Given the description of an element on the screen output the (x, y) to click on. 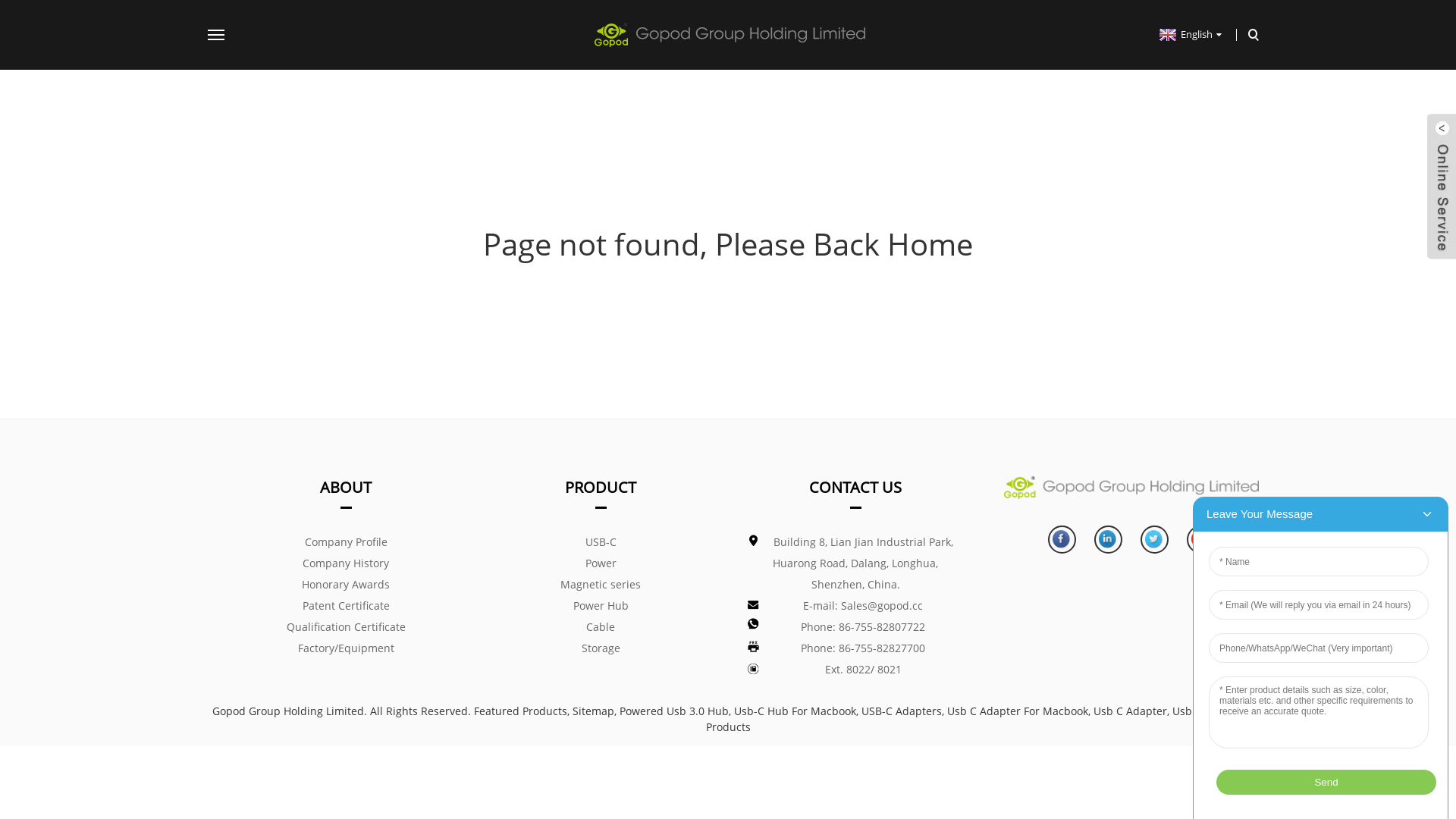
Phone: 86-755-82827700 Element type: text (854, 647)
All Products Element type: text (974, 718)
Powered Usb 3.0 Hub Element type: text (673, 710)
Featured Products Element type: text (519, 710)
English Element type: text (1188, 33)
Usb C Hub Element type: text (1199, 710)
Qualification Certificate Element type: text (345, 626)
USB-C Adapters Element type: text (901, 710)
Patent Certificate Element type: text (345, 605)
Ext. 8022/ 8021 Element type: text (854, 669)
Company History Element type: text (345, 563)
Honorary Awards Element type: text (345, 584)
Usb C Adapter Element type: text (1130, 710)
USB-C Element type: text (600, 541)
Phone: 86-755-82807722 Element type: text (854, 626)
Usb-C Hub For Macbook Element type: text (795, 710)
Factory/Equipment Element type: text (345, 647)
E-mail: Sales@gopod.cc Element type: text (854, 605)
Power Element type: text (600, 563)
Usb C Adapter For Macbook Element type: text (1016, 710)
Company Profile Element type: text (345, 541)
Storage Element type: text (600, 647)
Power Hub Element type: text (600, 605)
Page not found, Please Back Home Element type: text (727, 243)
Cable Element type: text (600, 626)
Magnetic series Element type: text (600, 584)
Sitemap Element type: text (592, 710)
